Given the description of an element on the screen output the (x, y) to click on. 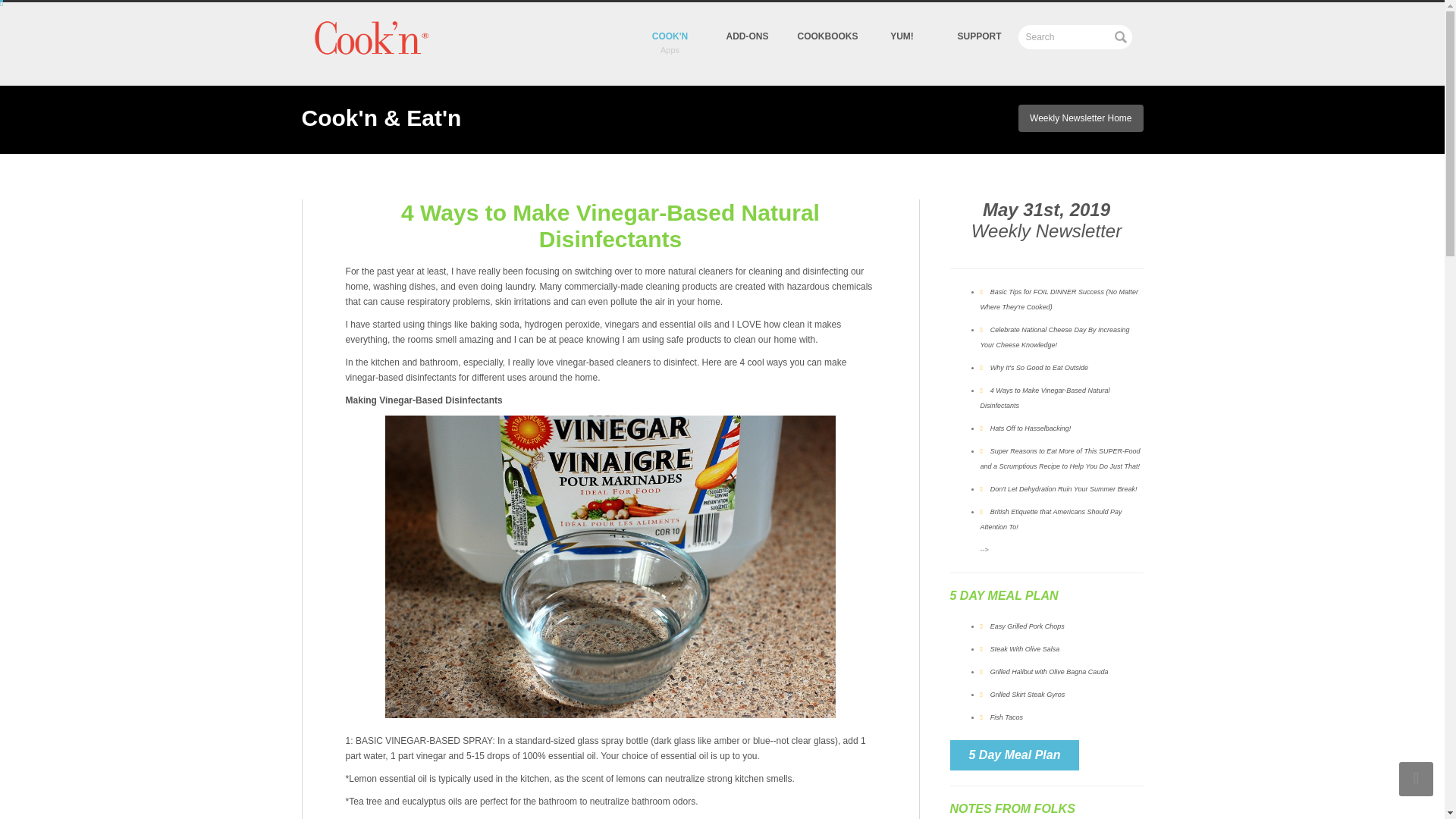
Search (1074, 37)
SUPPORT (978, 23)
COOKBOOKS (824, 23)
Weekly Newsletter Home (1080, 118)
YUM! (901, 23)
Search (1074, 37)
COOK'N (668, 25)
ADD-ONS (746, 23)
